Given the description of an element on the screen output the (x, y) to click on. 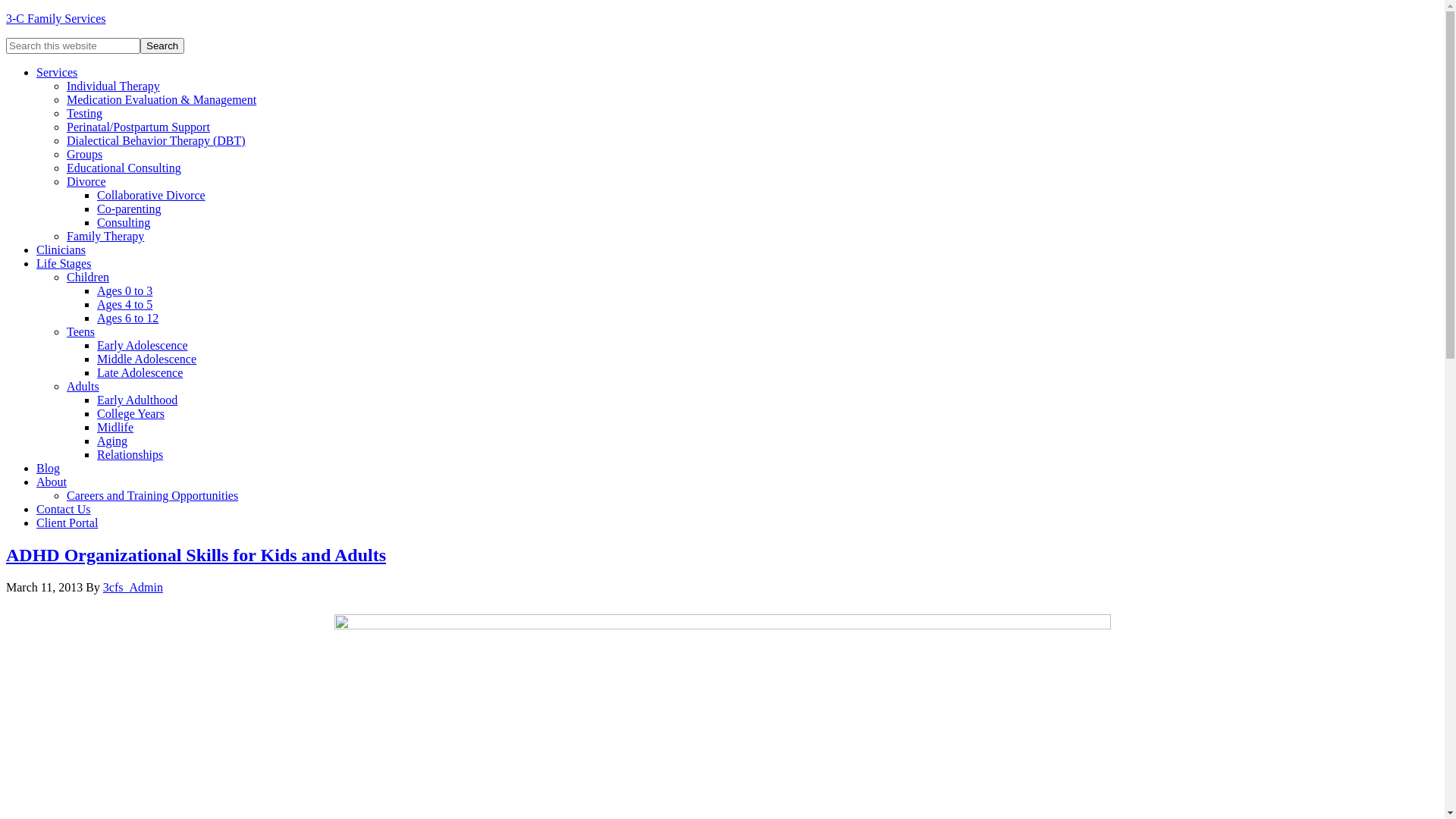
Life Stages Element type: text (63, 263)
Individual Therapy Element type: text (113, 85)
Collaborative Divorce Element type: text (151, 194)
Search Element type: text (162, 45)
Middle Adolescence Element type: text (146, 358)
Medication Evaluation & Management Element type: text (161, 99)
3cfs_Admin Element type: text (133, 586)
Ages 6 to 12 Element type: text (127, 317)
Dialectical Behavior Therapy (DBT) Element type: text (155, 140)
ADHD Organizational Skills for Kids and Adults Element type: text (195, 554)
Client Portal Element type: text (66, 522)
Contact Us Element type: text (63, 508)
Careers and Training Opportunities Element type: text (152, 495)
Late Adolescence Element type: text (139, 372)
Perinatal/Postpartum Support Element type: text (138, 126)
Divorce Element type: text (86, 181)
Ages 0 to 3 Element type: text (124, 290)
Services Element type: text (56, 71)
3-C Family Services Element type: text (56, 18)
Clinicians Element type: text (60, 249)
Teens Element type: text (80, 331)
Children Element type: text (87, 276)
Co-parenting Element type: text (128, 208)
Educational Consulting Element type: text (123, 167)
College Years Element type: text (130, 413)
Early Adolescence Element type: text (142, 344)
Testing Element type: text (84, 112)
Blog Element type: text (47, 467)
Adults Element type: text (82, 385)
About Element type: text (51, 481)
Consulting Element type: text (123, 222)
Relationships Element type: text (130, 454)
Family Therapy Element type: text (105, 235)
Aging Element type: text (112, 440)
Ages 4 to 5 Element type: text (124, 304)
Groups Element type: text (84, 153)
Midlife Element type: text (115, 426)
Early Adulthood Element type: text (137, 399)
